Given the description of an element on the screen output the (x, y) to click on. 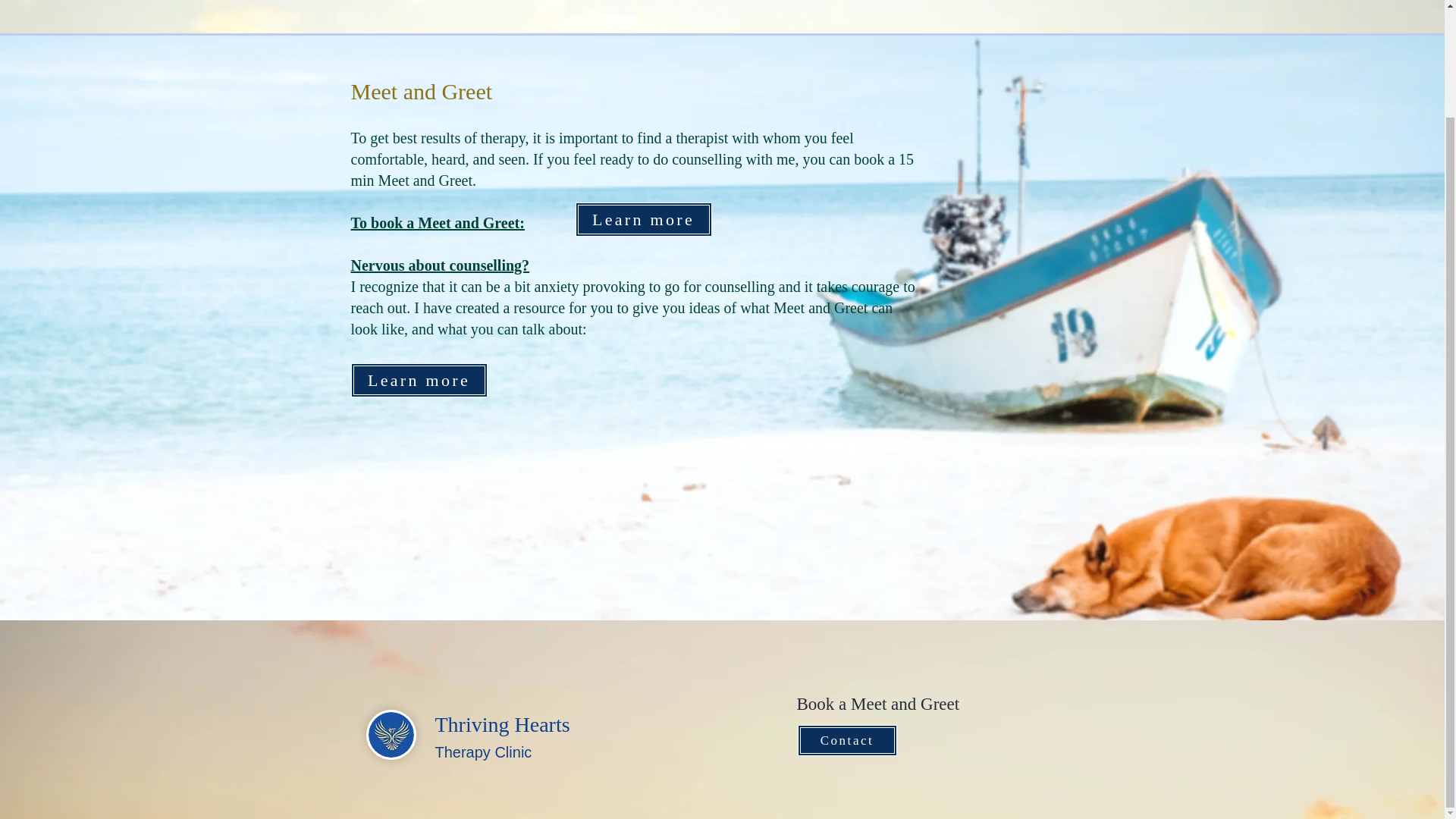
Learn more (643, 219)
Contact (846, 739)
Learn more (418, 380)
